Given the description of an element on the screen output the (x, y) to click on. 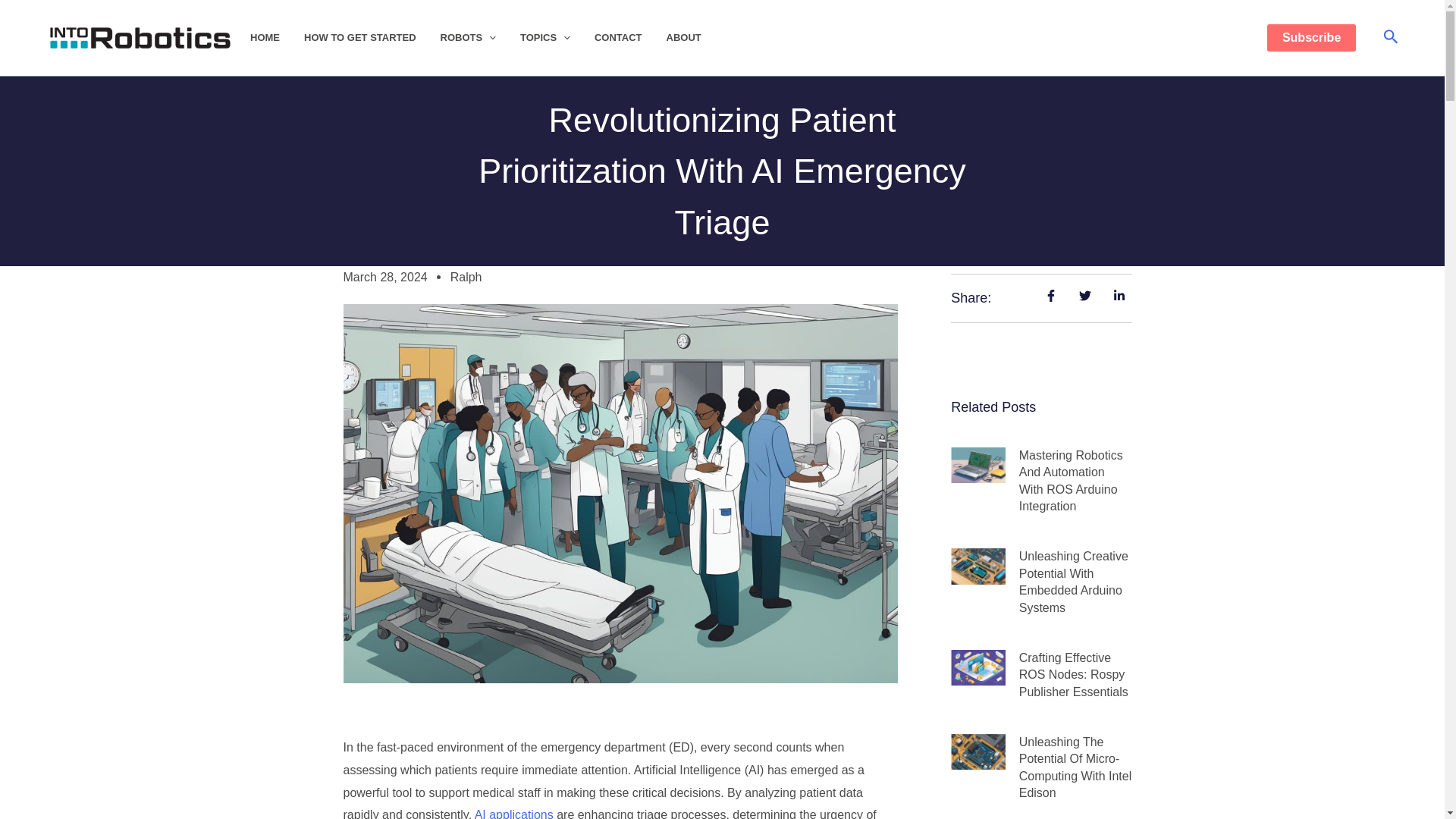
ROBOTS (480, 38)
TOPICS (556, 38)
HOW TO GET STARTED (372, 38)
